Given the description of an element on the screen output the (x, y) to click on. 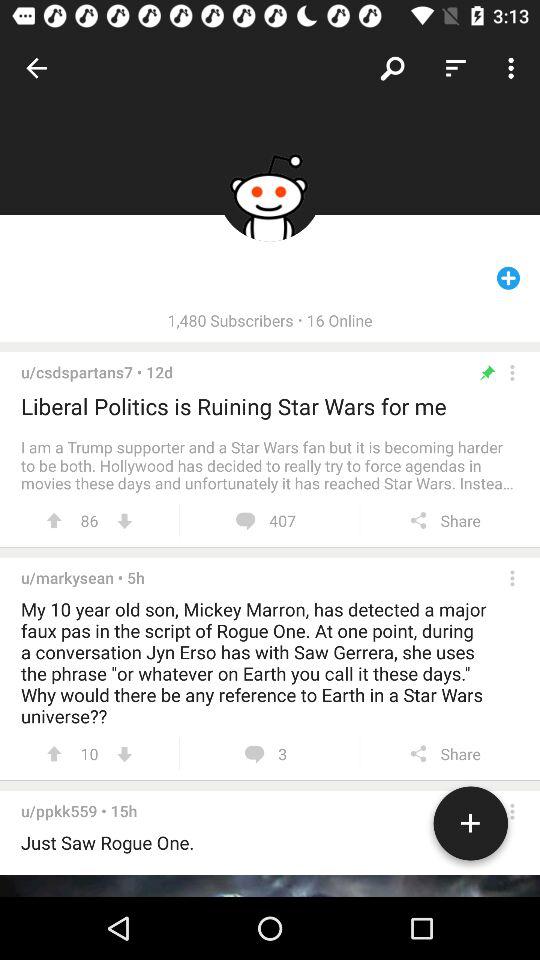
downvote (124, 520)
